Given the description of an element on the screen output the (x, y) to click on. 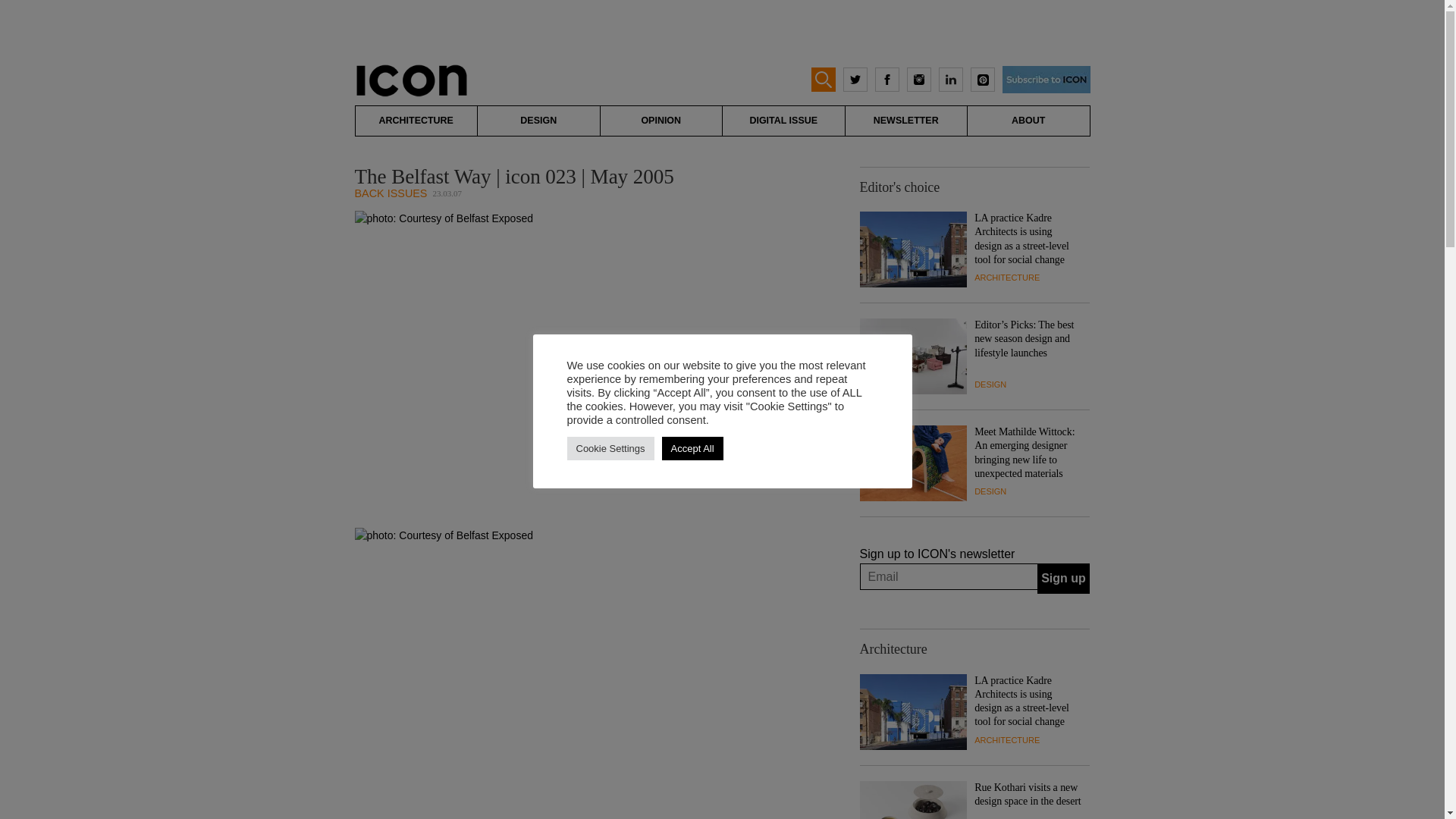
DESIGN (538, 120)
ARCHITECTURE (1006, 276)
OPINION (660, 120)
NEWSLETTER (905, 120)
Sign up (1062, 578)
DIGITAL ISSUE (783, 120)
DESIGN (990, 384)
BACK ISSUES (391, 193)
ABOUT (1028, 120)
Search (25, 9)
